Given the description of an element on the screen output the (x, y) to click on. 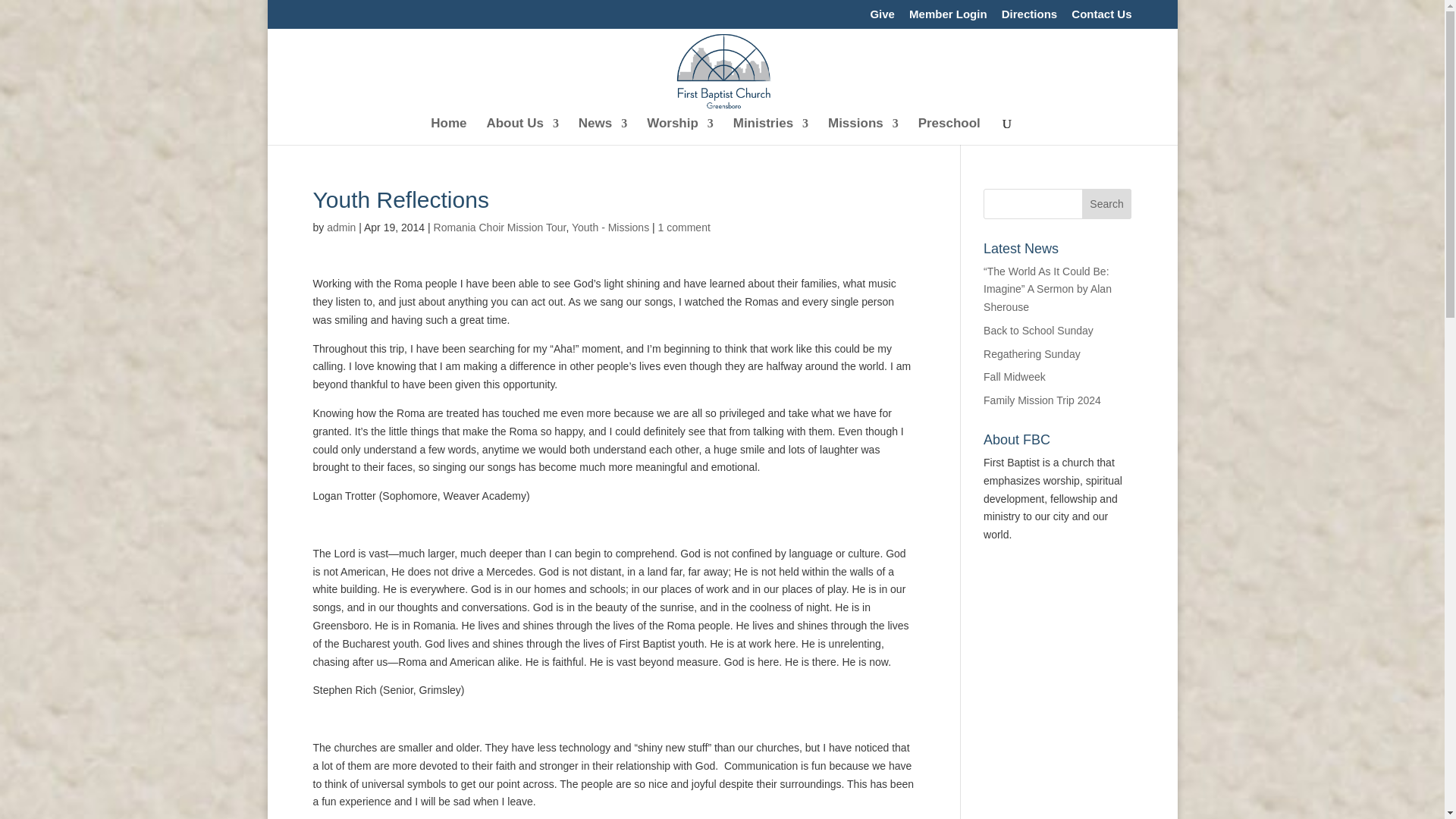
Give (882, 17)
Posts by admin (340, 227)
Member Login (947, 17)
Contact Us (1101, 17)
Ministries (770, 130)
Search (1106, 203)
Home (447, 130)
Preschool (948, 130)
Worship (679, 130)
Directions (1029, 17)
